Given the description of an element on the screen output the (x, y) to click on. 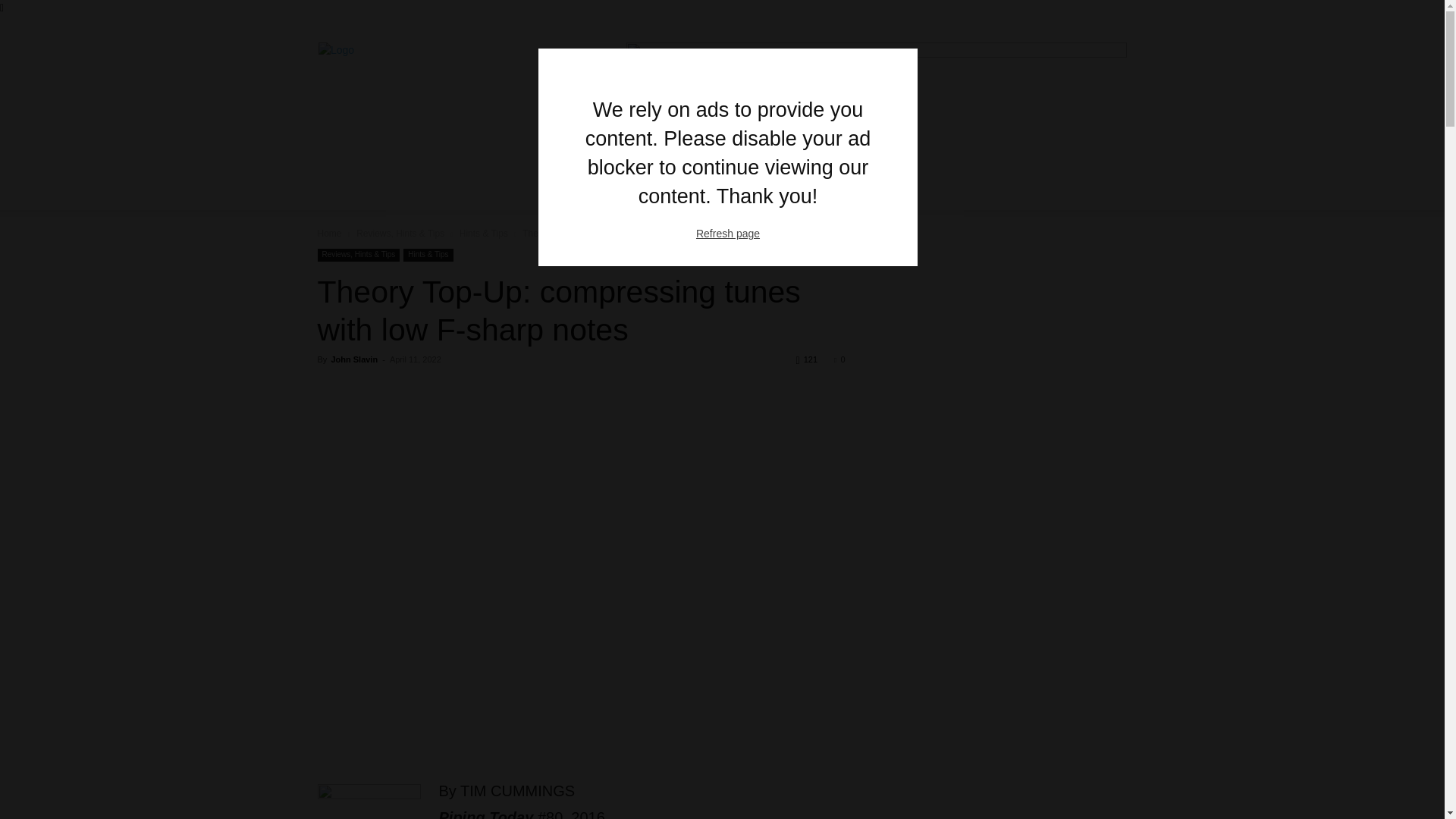
EVENTS (1094, 155)
NEWS (707, 155)
John Slavin (353, 358)
0 (839, 358)
SCENE AROUND (1009, 155)
Home (328, 233)
FEATURES (771, 155)
